Given the description of an element on the screen output the (x, y) to click on. 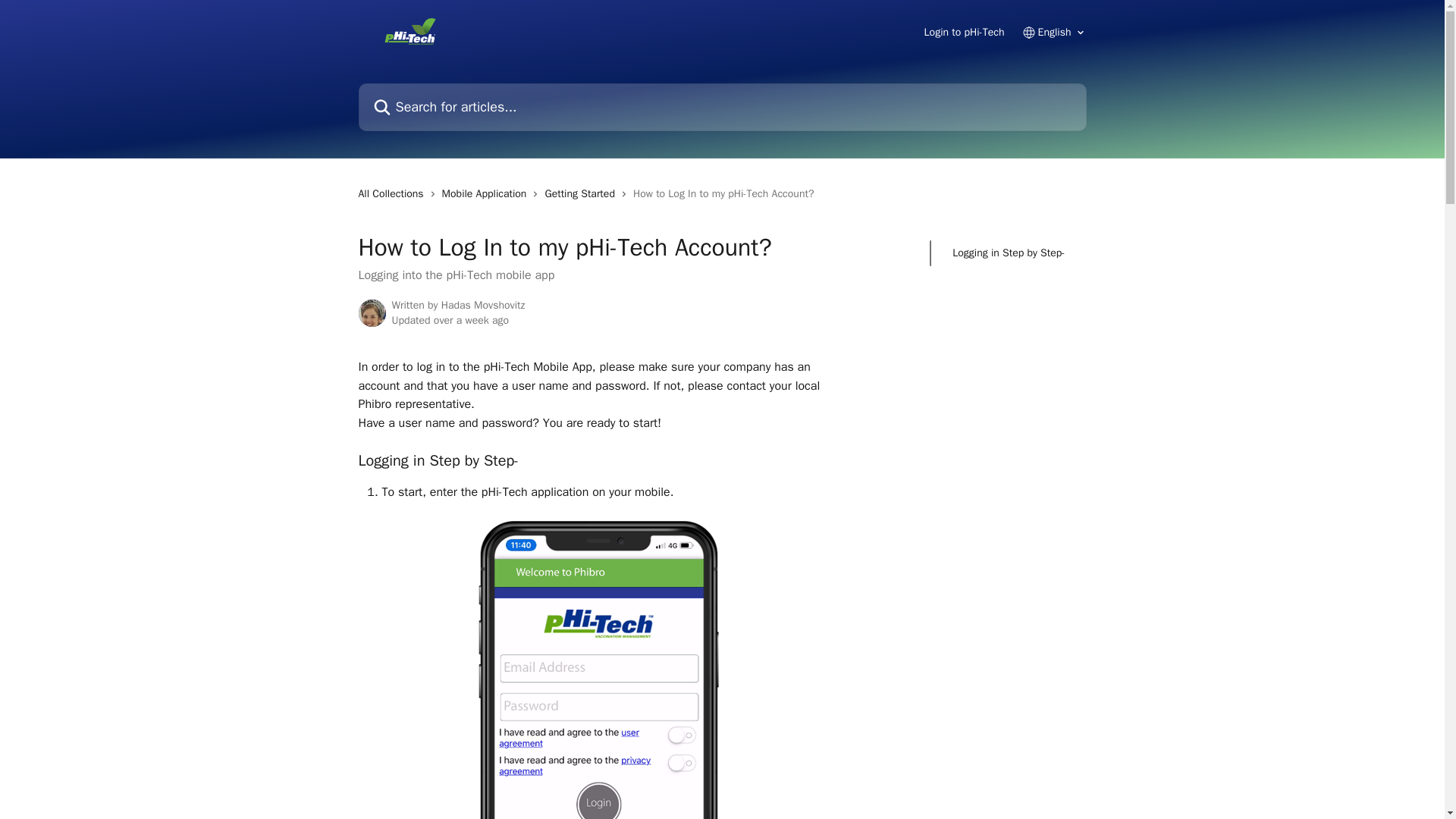
Logging in Step by Step- (1008, 252)
Login to pHi-Tech (964, 32)
All Collections (393, 193)
Getting Started (582, 193)
Mobile Application (487, 193)
